Given the description of an element on the screen output the (x, y) to click on. 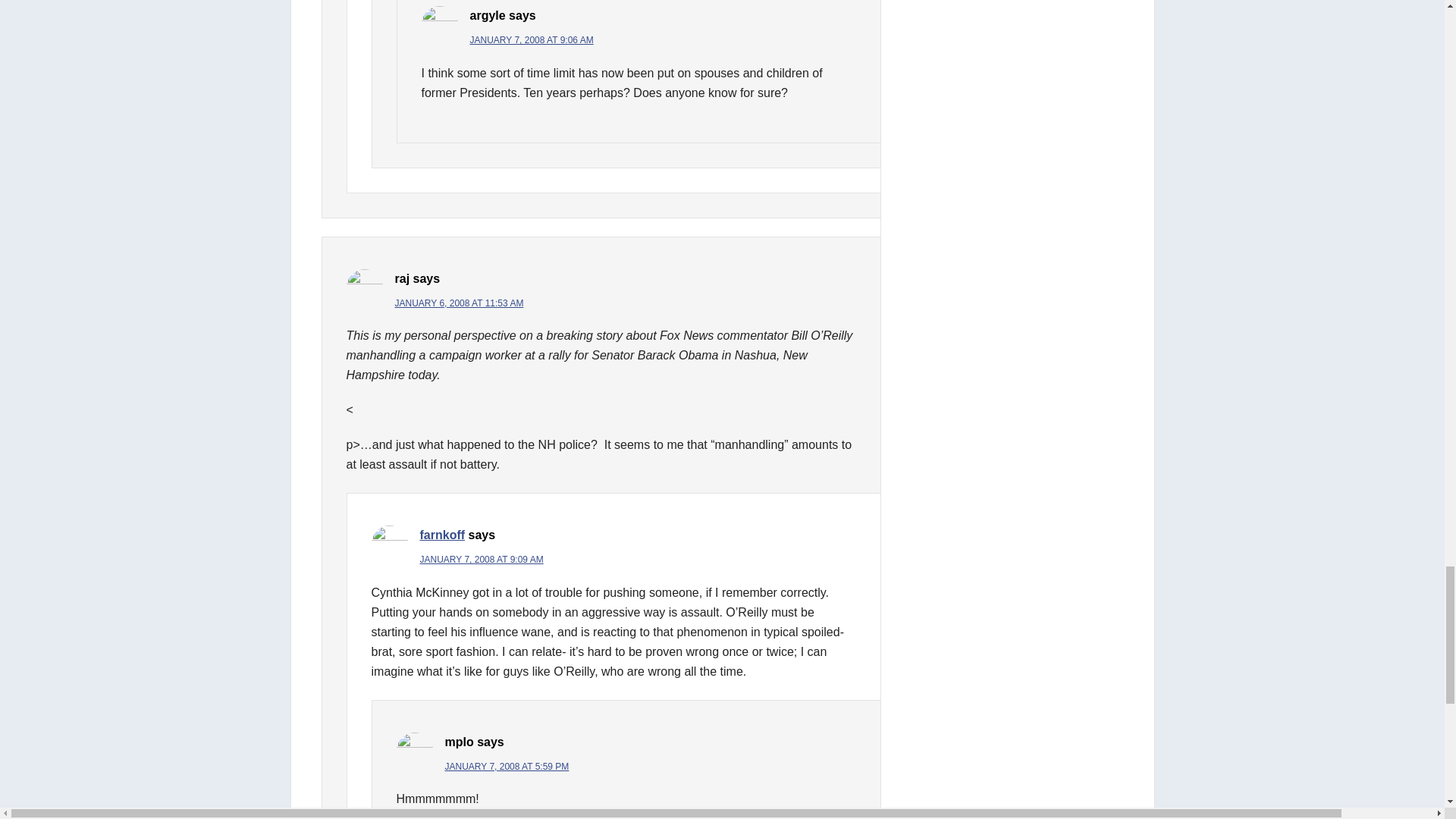
JANUARY 7, 2008 AT 9:06 AM (532, 40)
JANUARY 6, 2008 AT 11:53 AM (458, 303)
farnkoff (442, 534)
